Given the description of an element on the screen output the (x, y) to click on. 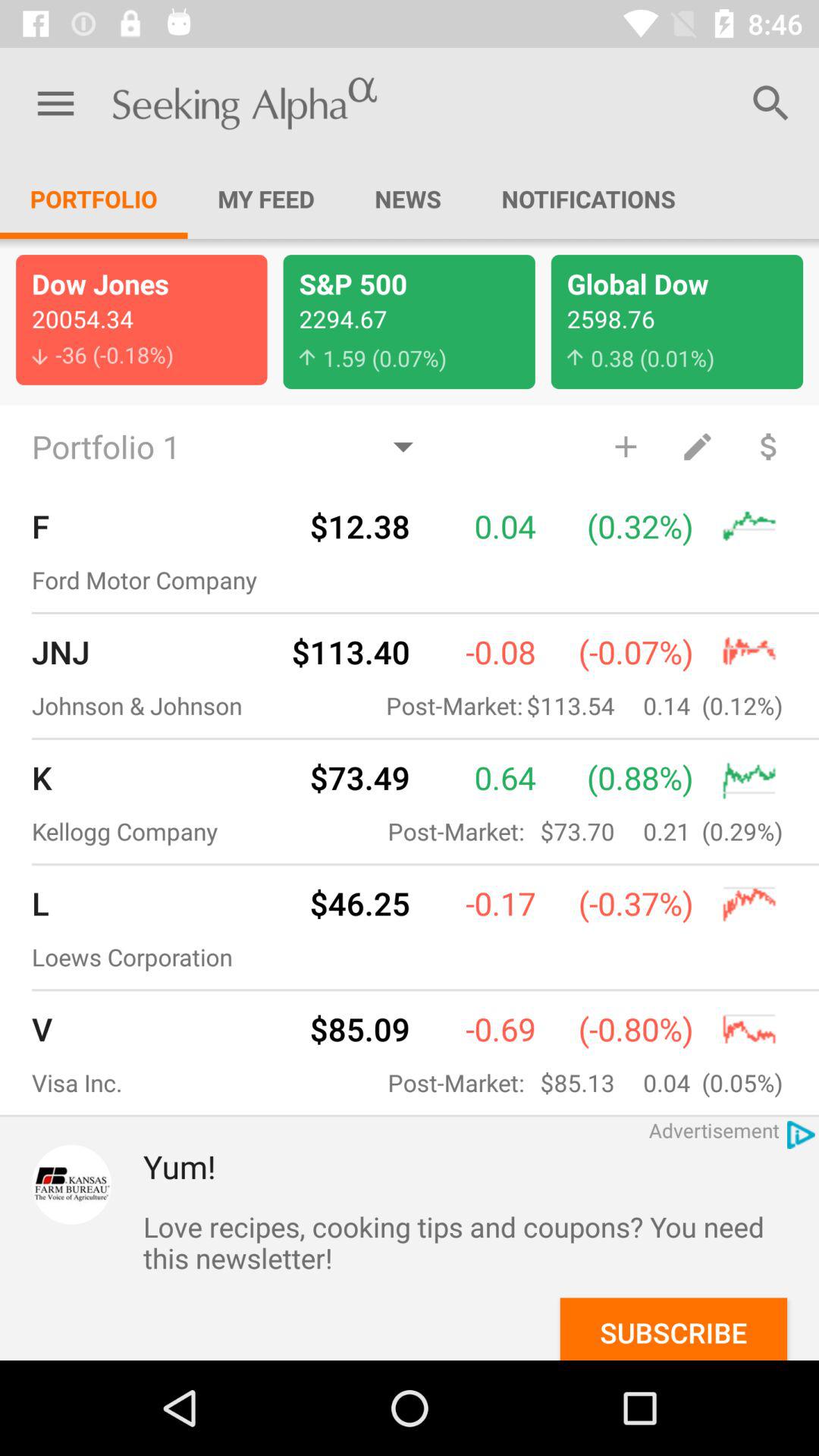
add stock to portfolio (625, 446)
